Given the description of an element on the screen output the (x, y) to click on. 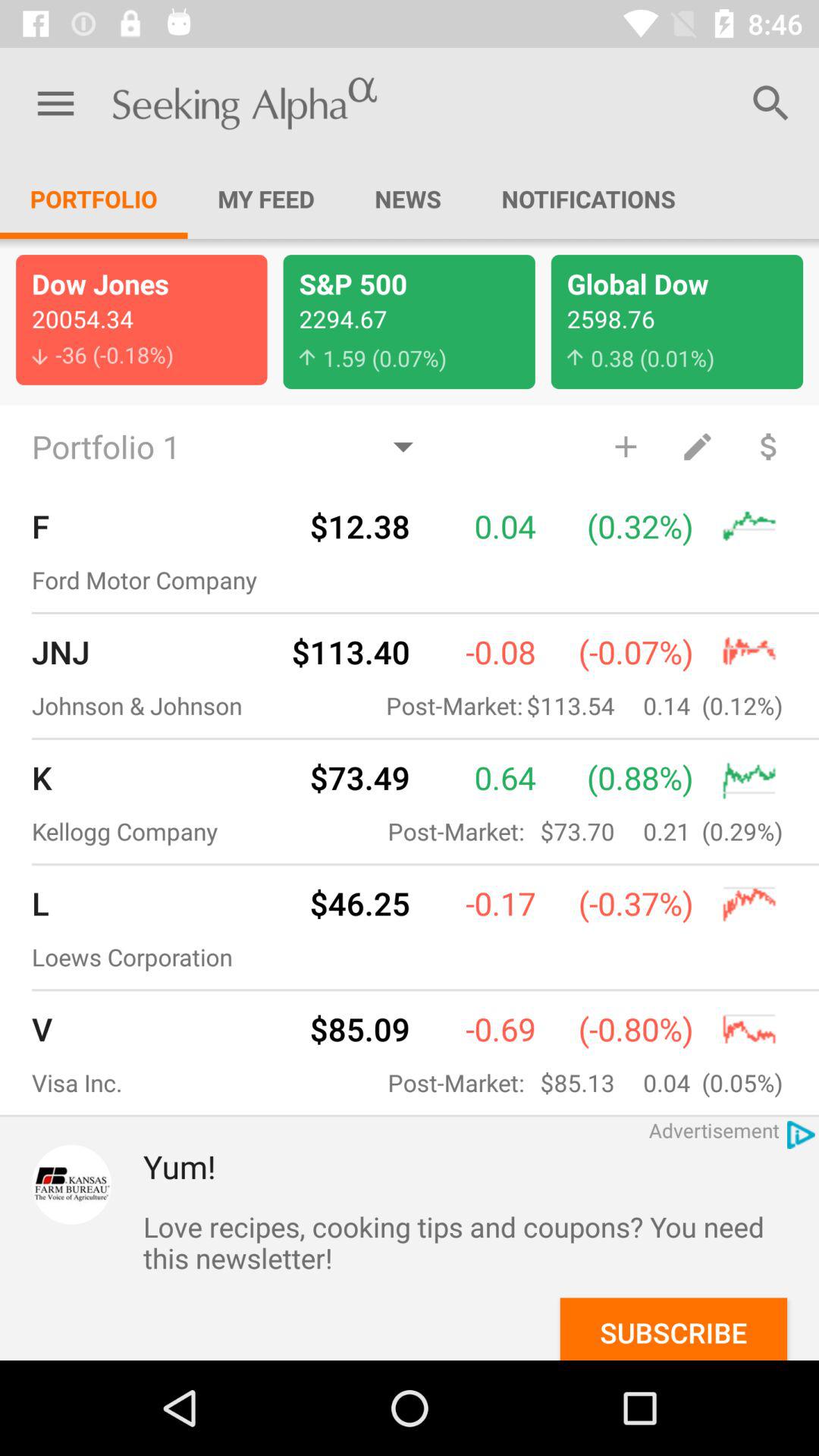
add stock to portfolio (625, 446)
